Given the description of an element on the screen output the (x, y) to click on. 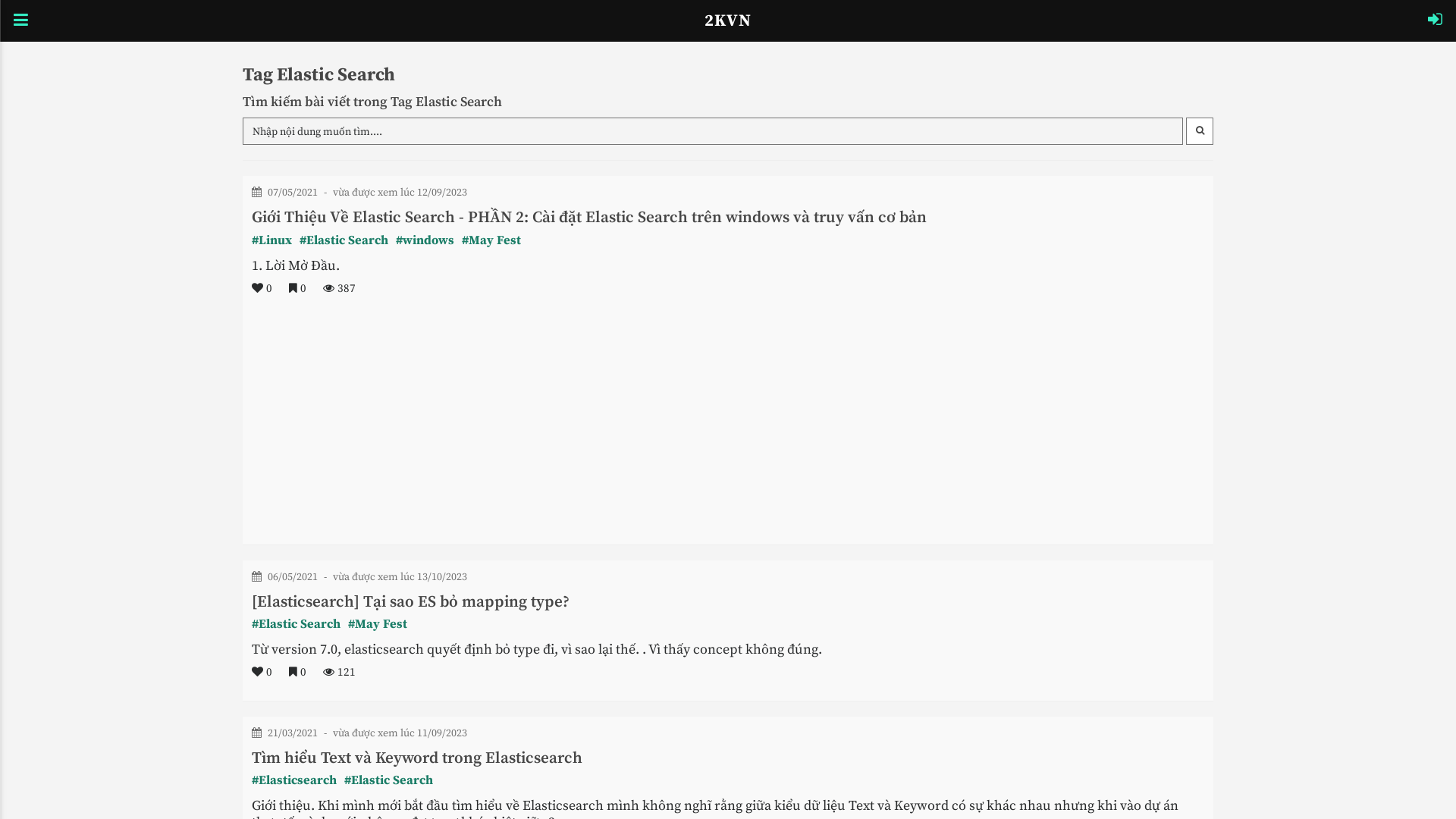
#Elasticsearch Element type: text (293, 780)
#Linux Element type: text (271, 240)
#May Fest Element type: text (490, 240)
#Elastic Search Element type: text (295, 624)
#windows Element type: text (424, 240)
menu Element type: hover (20, 20)
2KVN Element type: text (727, 20)
#May Fest Element type: text (377, 624)
#Elastic Search Element type: text (343, 240)
Advertisement Element type: hover (728, 430)
#Elastic Search Element type: text (388, 780)
